Given the description of an element on the screen output the (x, y) to click on. 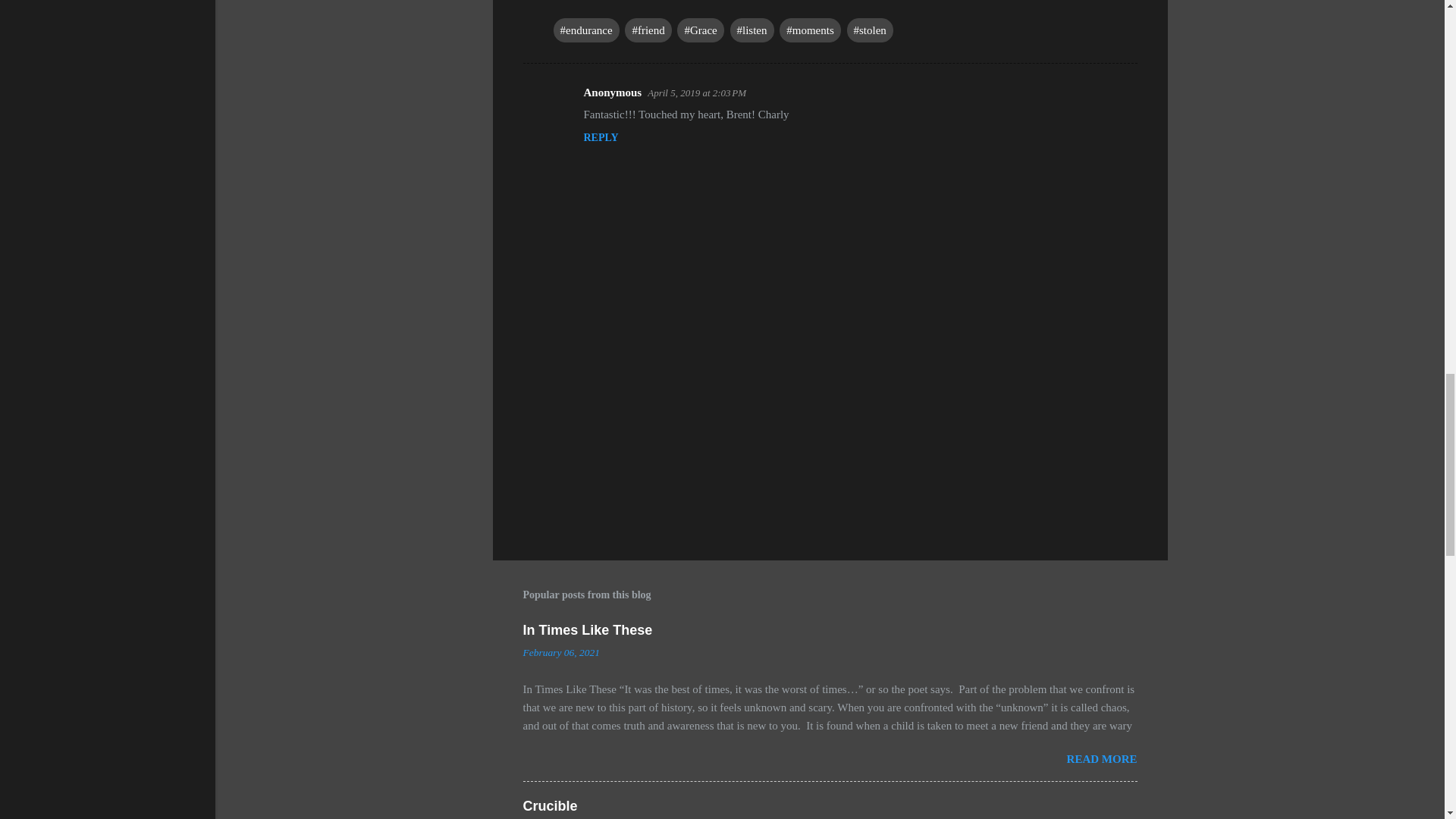
REPLY (600, 137)
permanent link (560, 652)
In Times Like These (587, 630)
Crucible (550, 806)
February 06, 2021 (560, 652)
READ MORE (1102, 758)
